Given the description of an element on the screen output the (x, y) to click on. 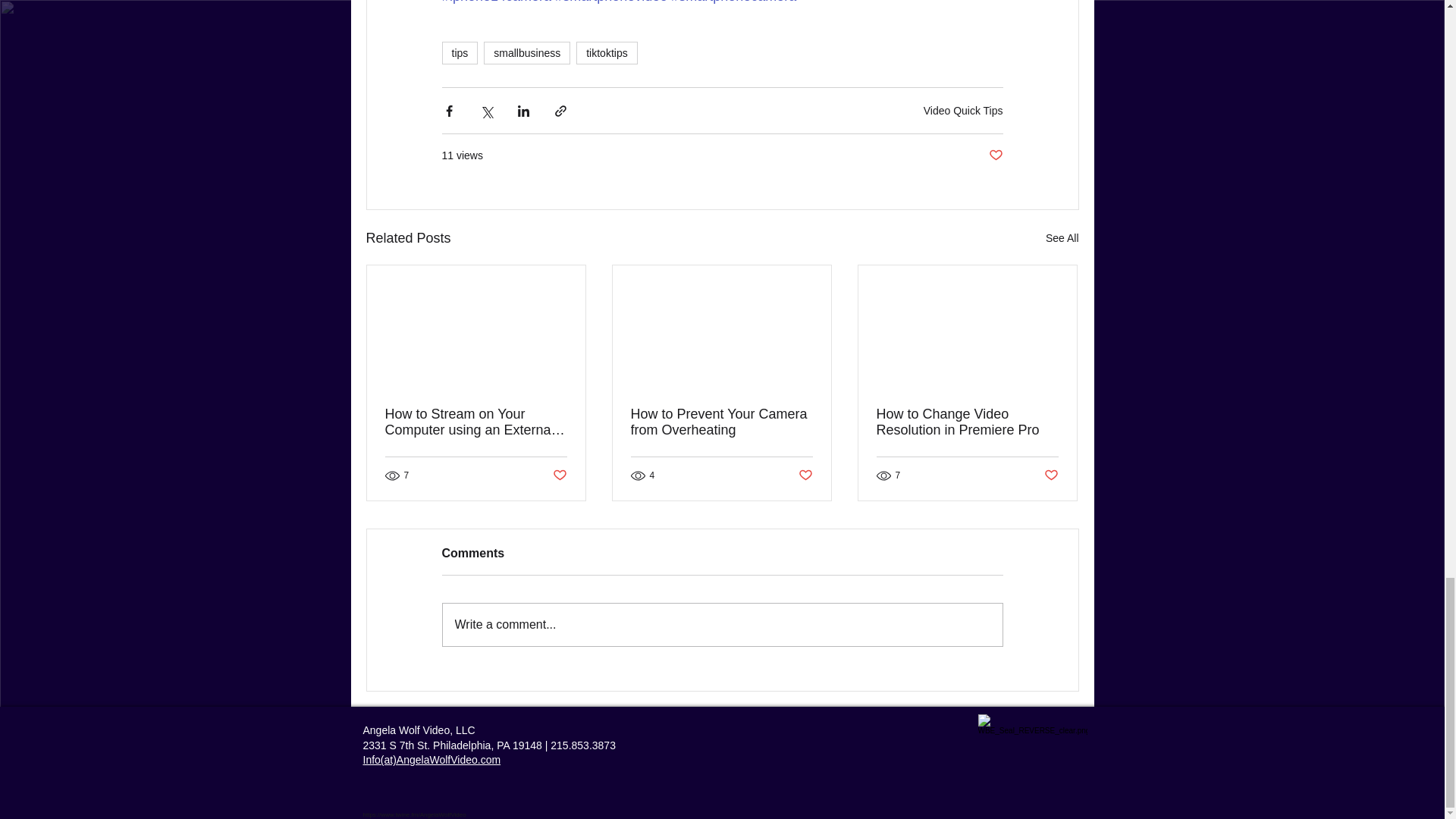
tips (459, 52)
